Given the description of an element on the screen output the (x, y) to click on. 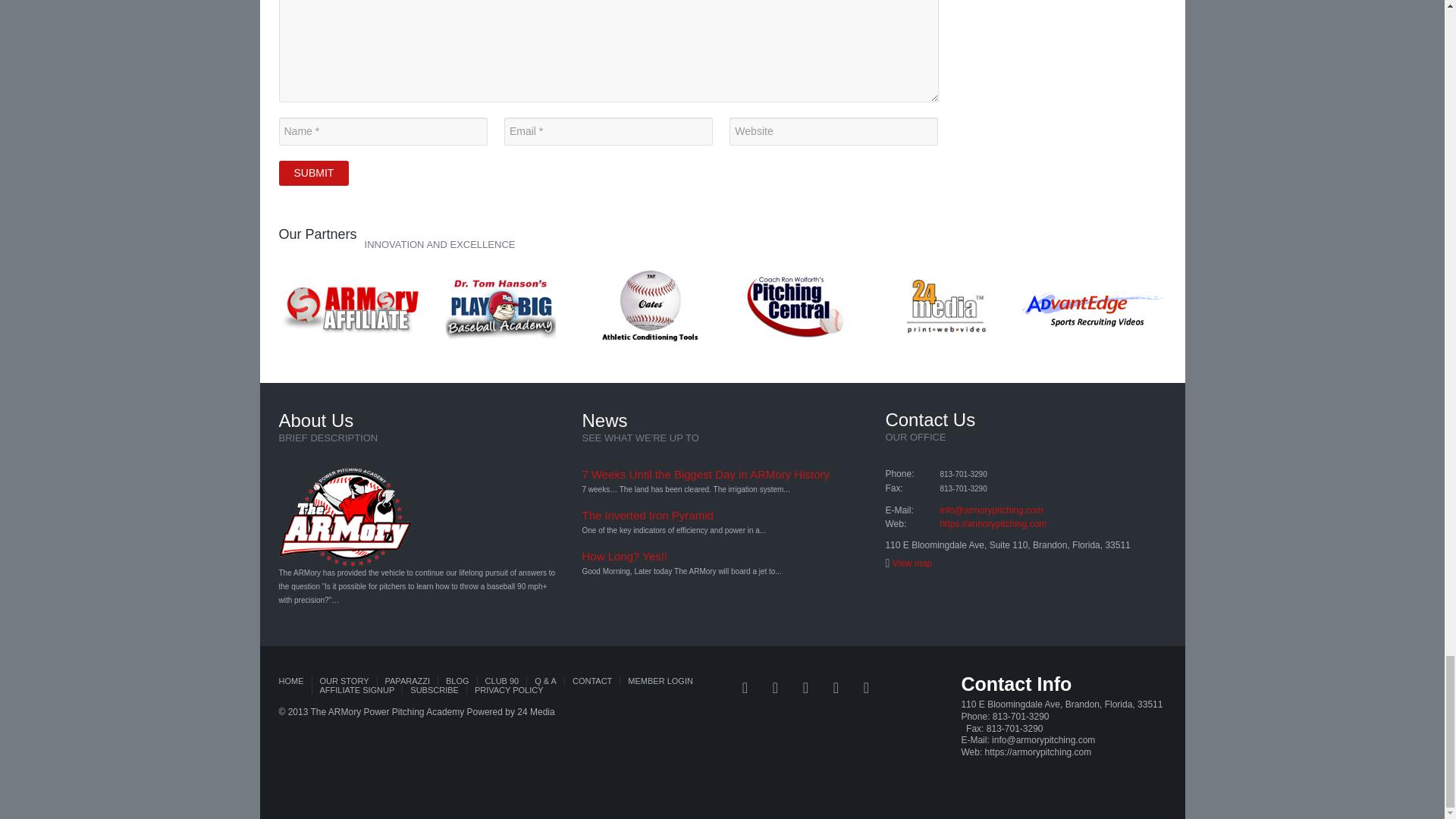
SUBMIT (314, 172)
How Long? Yes!! (623, 555)
7 Weeks Until the Biggest Day in ARMory History (704, 473)
The Inverted Iron Pyramid (646, 514)
